Given the description of an element on the screen output the (x, y) to click on. 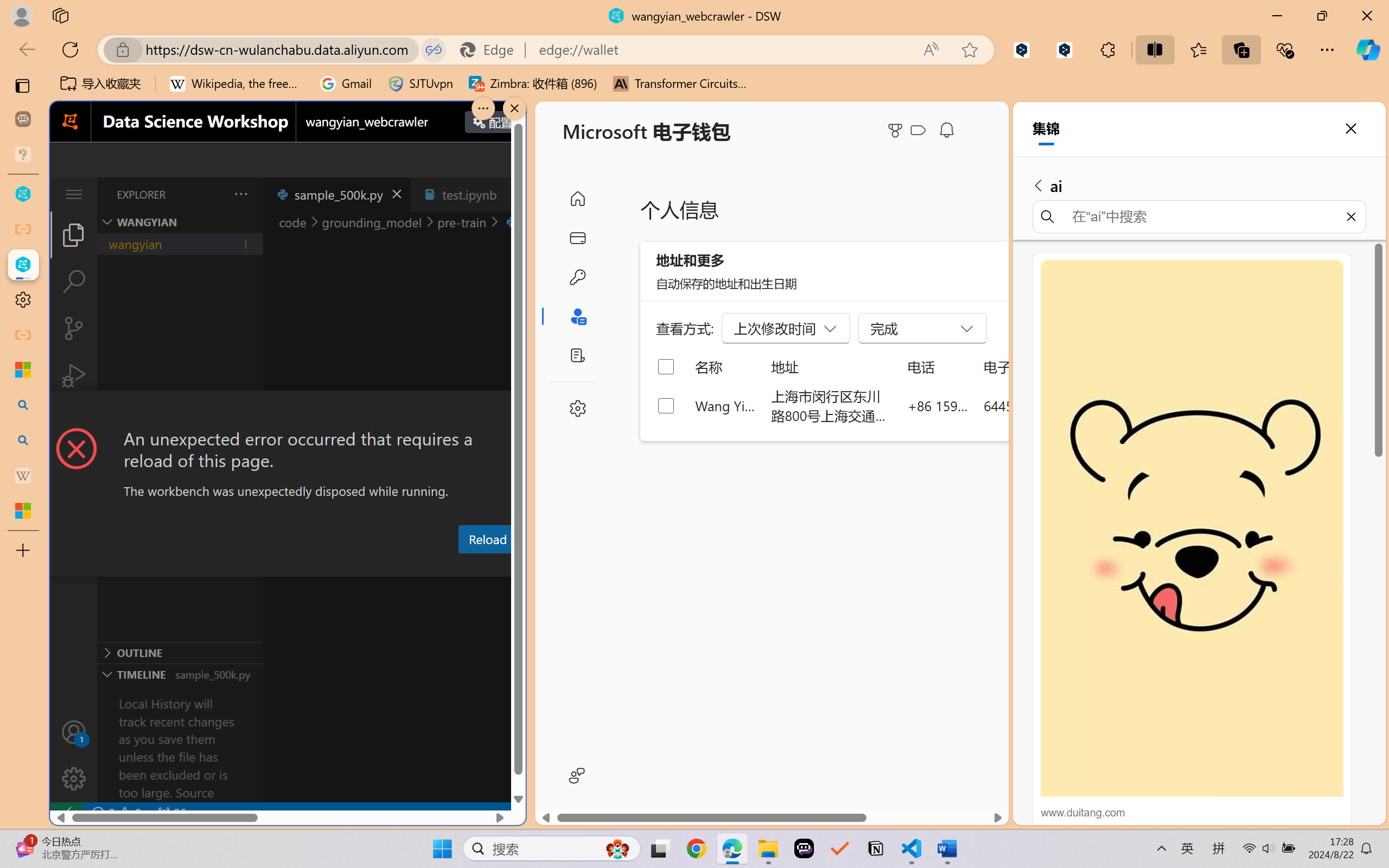
Accounts - Sign in requested (73, 732)
Microsoft Cashback (920, 130)
Run and Debug (Ctrl+Shift+D) (73, 375)
Class: ___1lmltc5 f1agt3bx f12qytpq (917, 130)
+86 159 0032 4640 (938, 405)
Debug Console (Ctrl+Shift+Y) (463, 565)
